Given the description of an element on the screen output the (x, y) to click on. 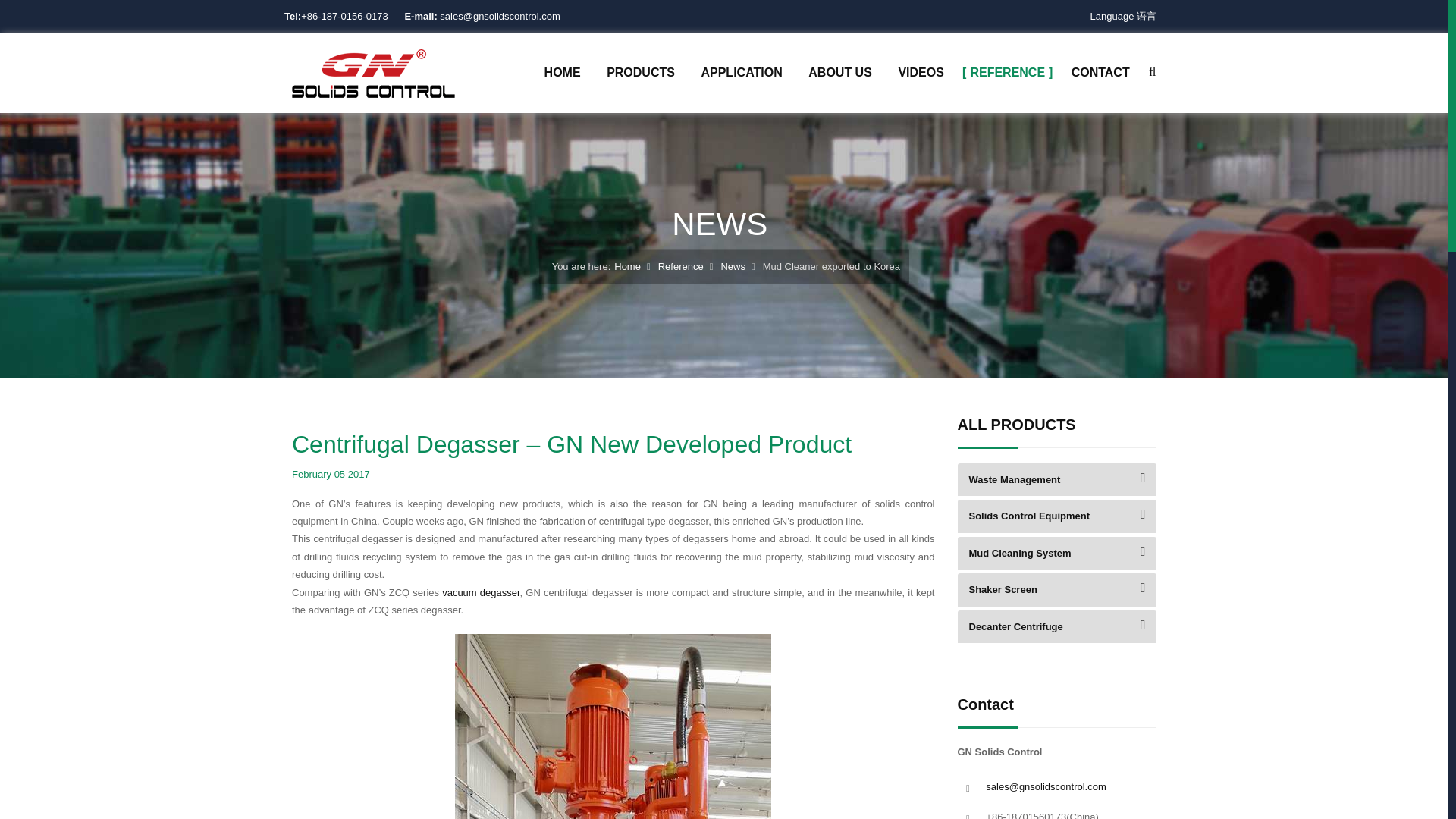
vacuum degasser (480, 592)
PRODUCTS (640, 72)
home page (373, 71)
Mail To (1045, 786)
